Given the description of an element on the screen output the (x, y) to click on. 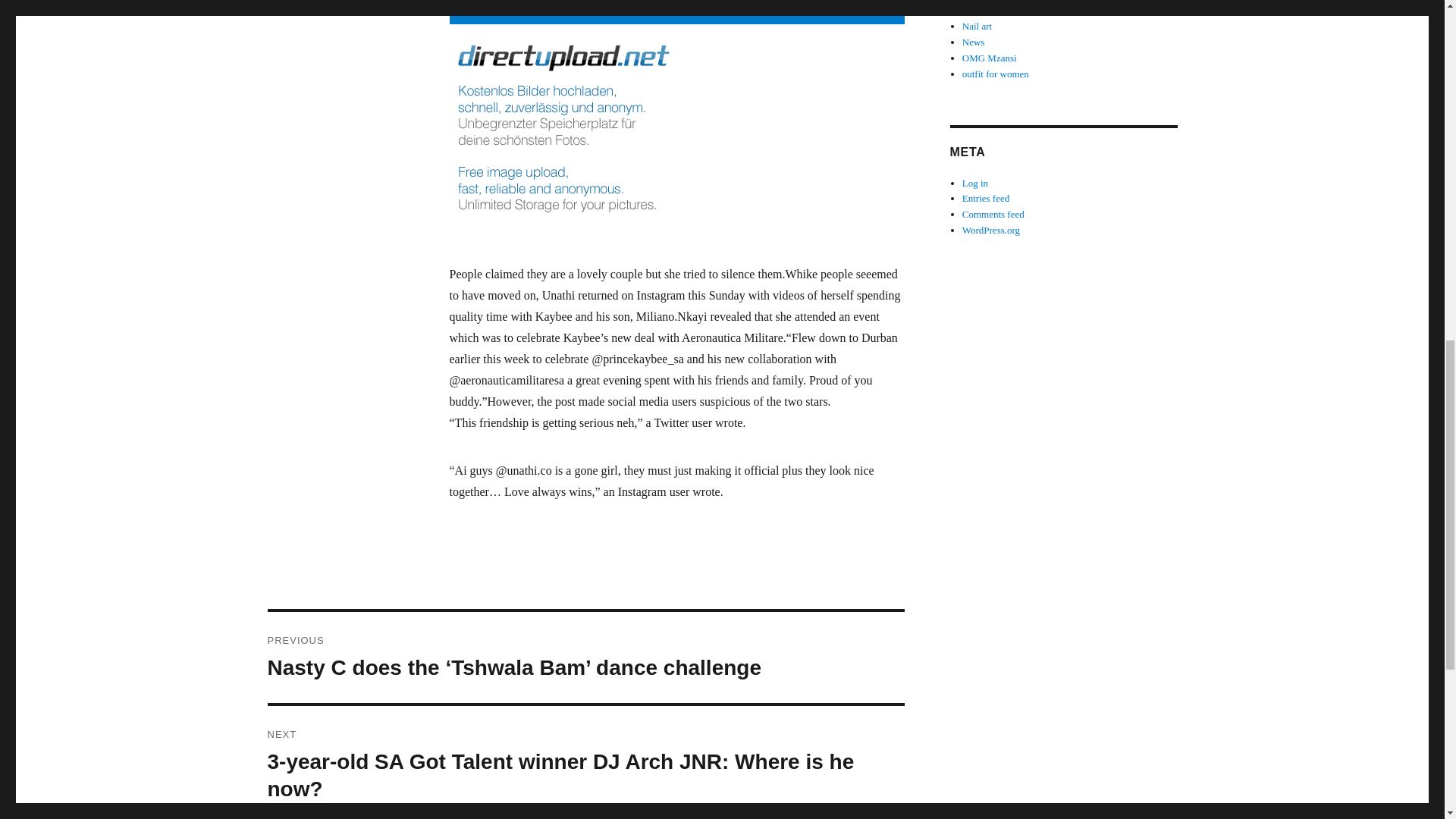
Comments feed (993, 214)
Entries feed (985, 197)
2022 OMG news (996, 9)
News (973, 41)
Log in (975, 183)
OMG Mzansi (989, 57)
Advertisement (679, 12)
WordPress.org (991, 229)
outfit for women (995, 73)
